Given the description of an element on the screen output the (x, y) to click on. 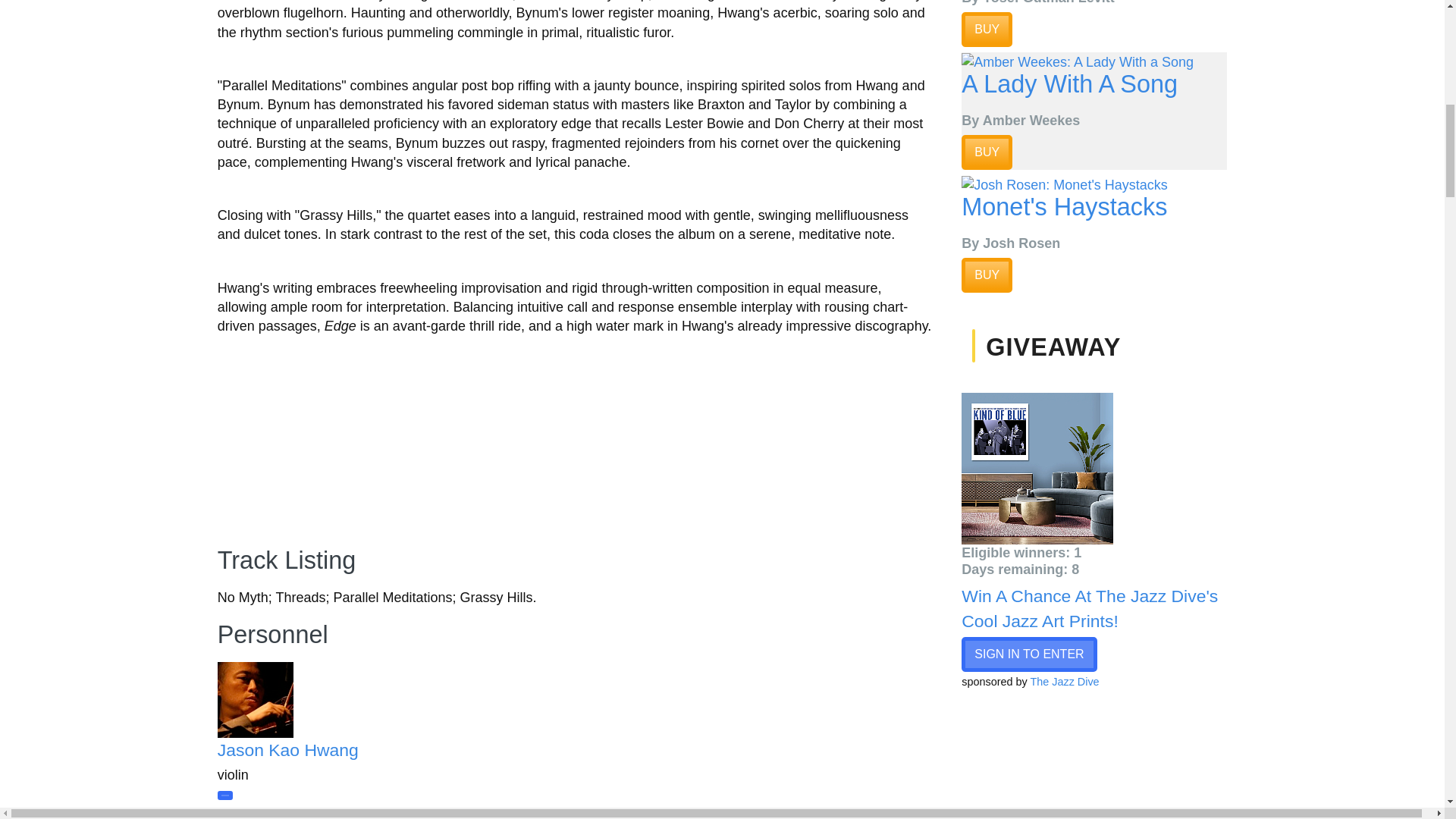
Visit Jason Kao Hwang at All About Jazz (304, 699)
Jason Kao Hwang (287, 750)
Visit Jason Kao Hwang at All About Jazz (287, 750)
View Jason Kao Hwang's calendar (224, 795)
